Given the description of an element on the screen output the (x, y) to click on. 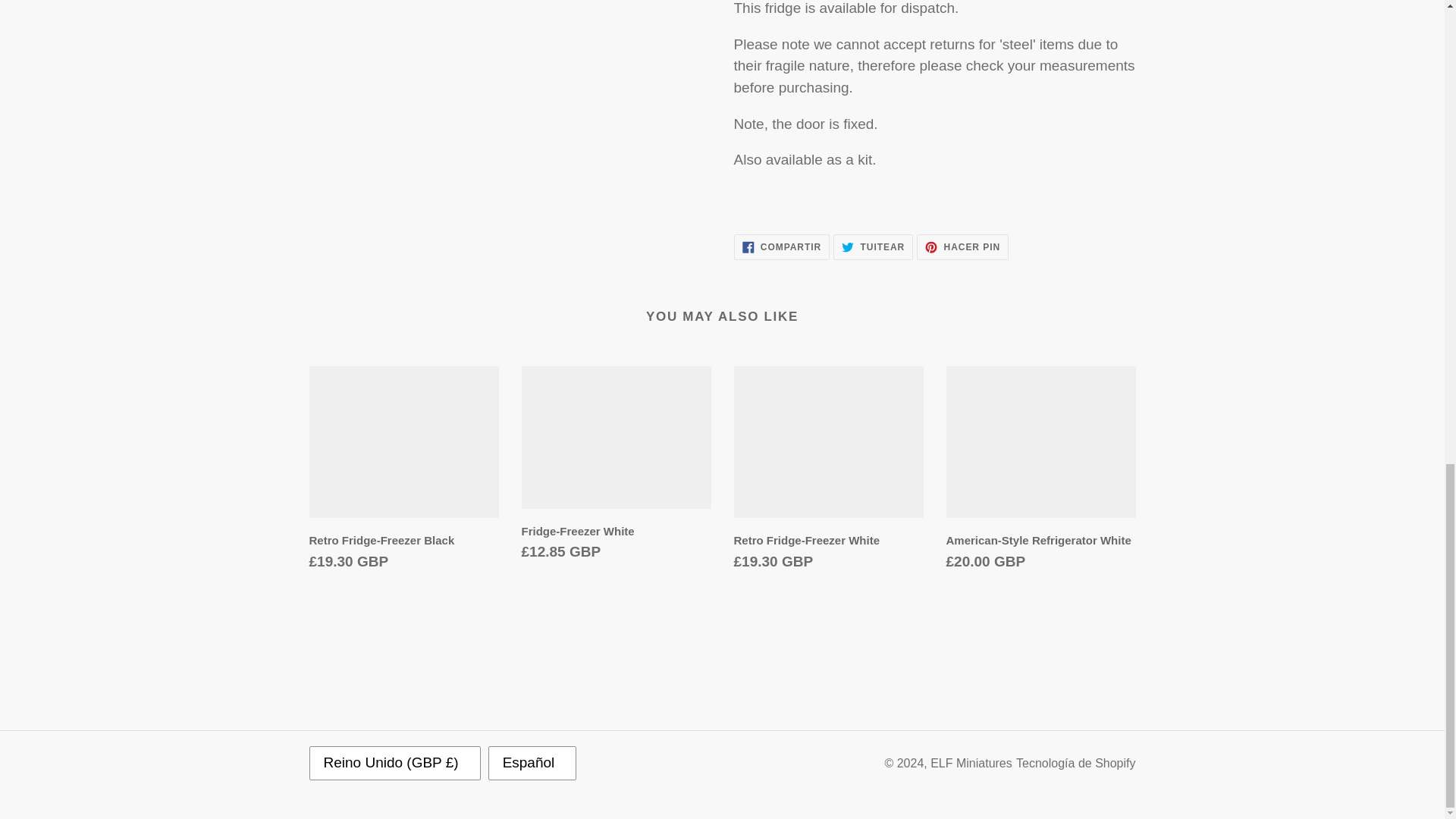
American-Style Refrigerator White (963, 247)
Fridge-Freezer White (1040, 472)
Retro Fridge-Freezer Black (616, 467)
Retro Fridge-Freezer White (872, 247)
